Given the description of an element on the screen output the (x, y) to click on. 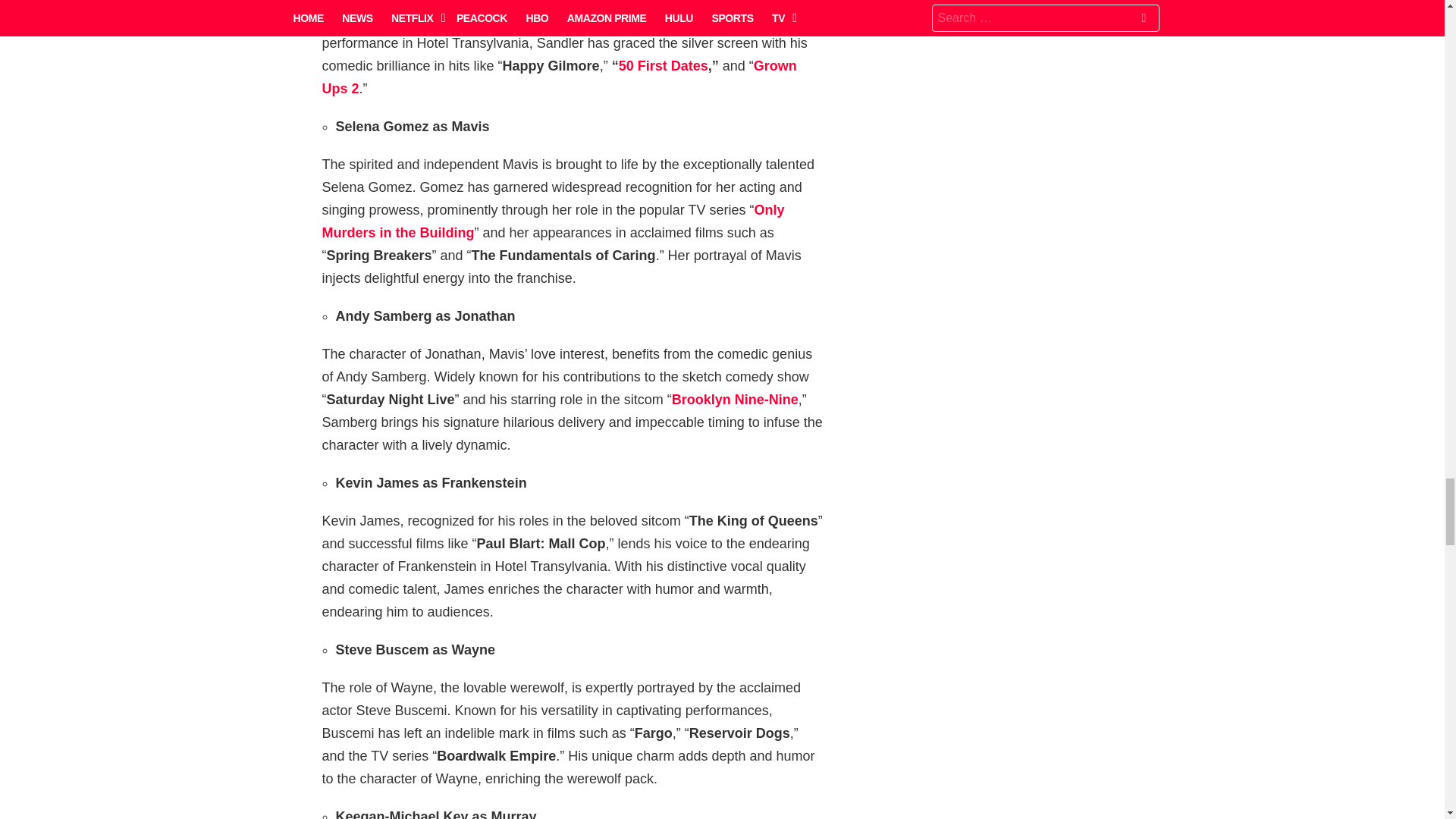
Grown Ups 2 (558, 77)
Brooklyn Nine-Nine (734, 399)
Only Murders in the Building (552, 221)
50 First Dates (662, 65)
